Given the description of an element on the screen output the (x, y) to click on. 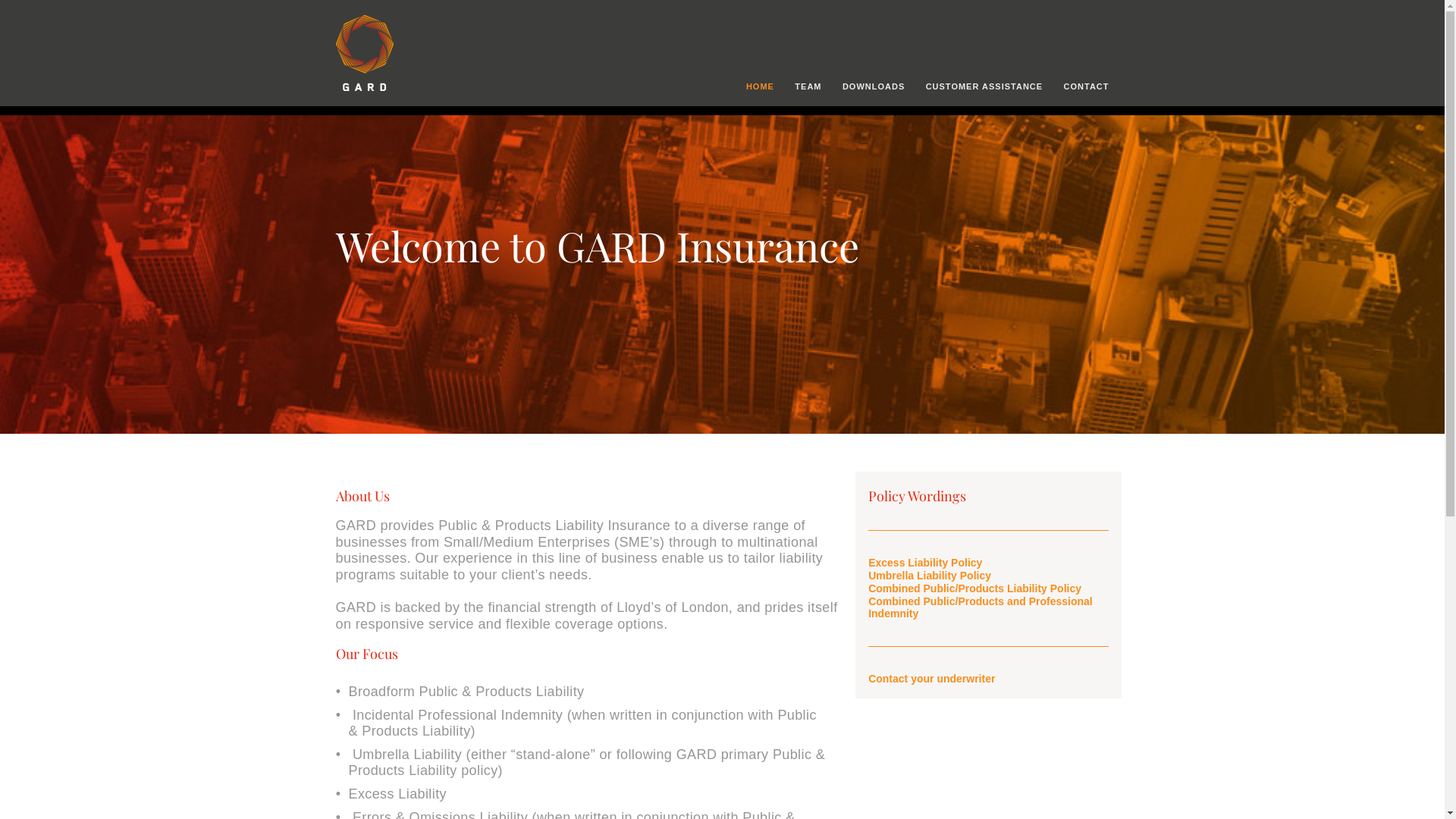
CUSTOMER ASSISTANCE Element type: text (984, 83)
HOME Element type: text (759, 83)
TEAM Element type: text (807, 83)
CONTACT Element type: text (1082, 83)
DOWNLOADS Element type: text (873, 83)
